Given the description of an element on the screen output the (x, y) to click on. 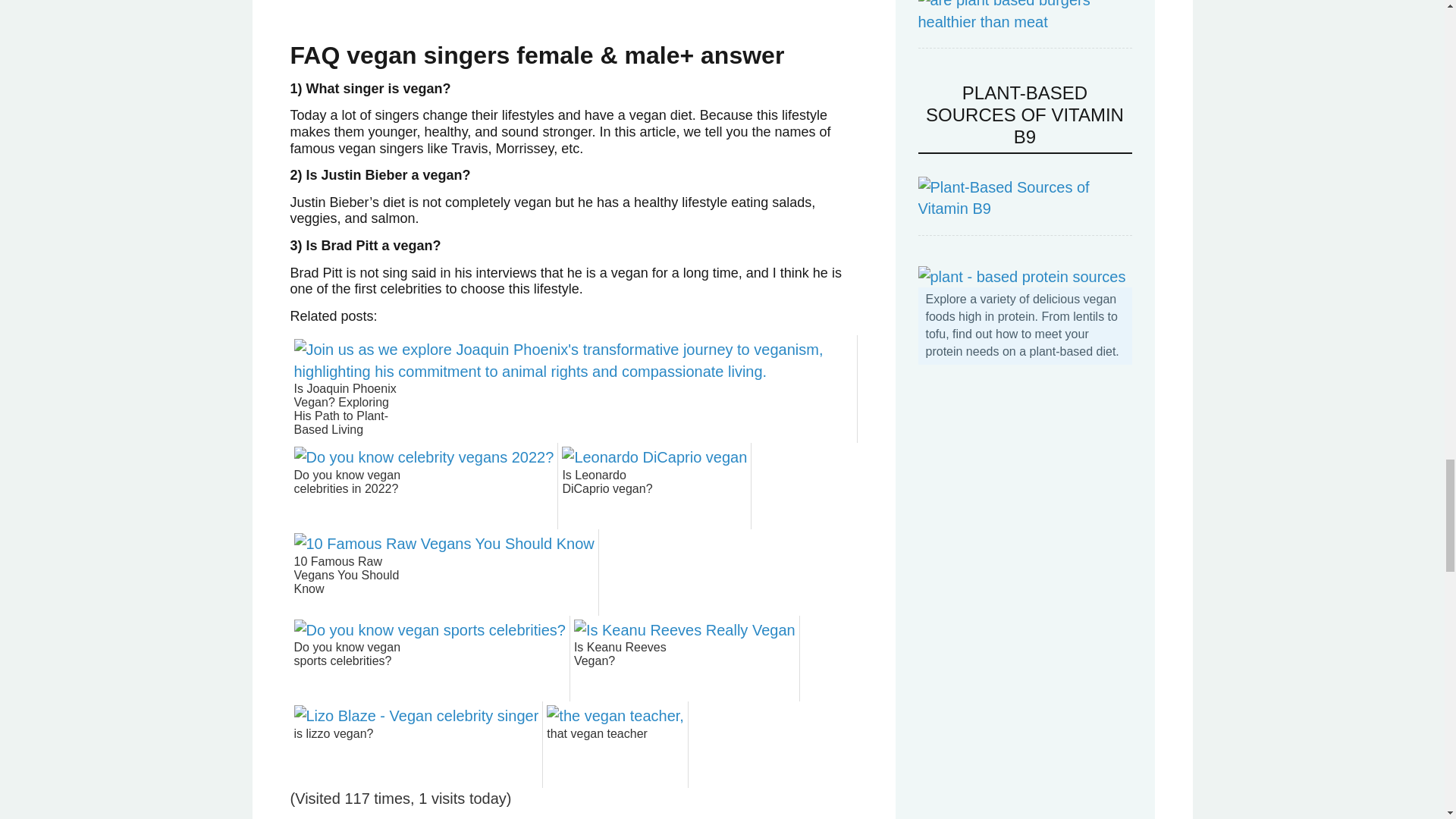
Is Keanu Reeves Vegan? (630, 668)
10 Famous Raw Vegans You Should Know (350, 583)
is lizzo vegan? (350, 755)
that vegan teacher (604, 755)
Do you know vegan celebrities in 2022? (350, 496)
Is Leonardo DiCaprio vegan? (618, 496)
Do you know vegan sports celebrities? (350, 668)
